Given the description of an element on the screen output the (x, y) to click on. 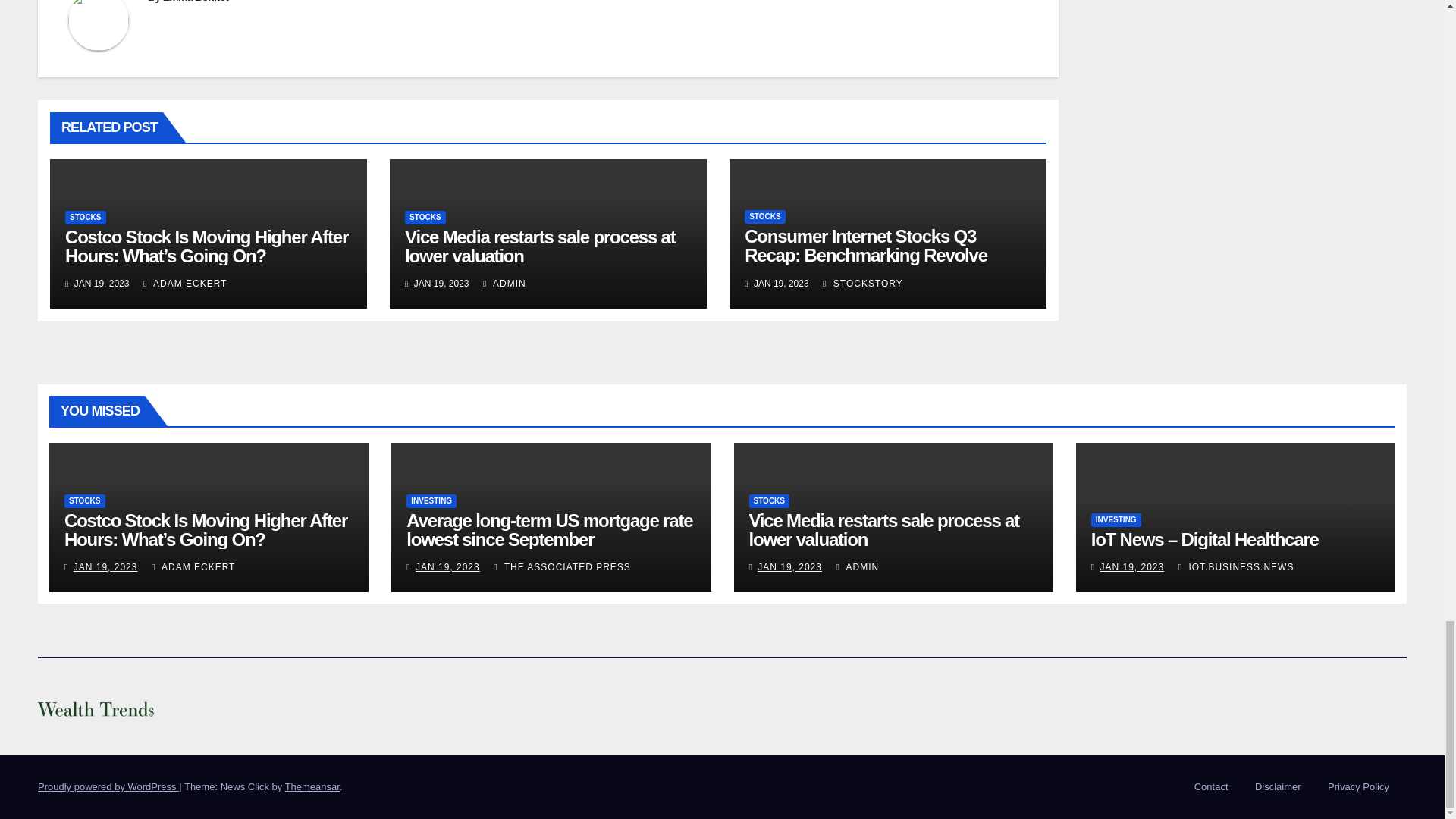
ADMIN (504, 283)
ADAM ECKERT (184, 283)
Emma Bonnet (195, 1)
Vice Media restarts sale process at lower valuation (539, 246)
STOCKS (424, 217)
STOCKS (85, 217)
STOCKS (765, 216)
Contact (1211, 786)
